Given the description of an element on the screen output the (x, y) to click on. 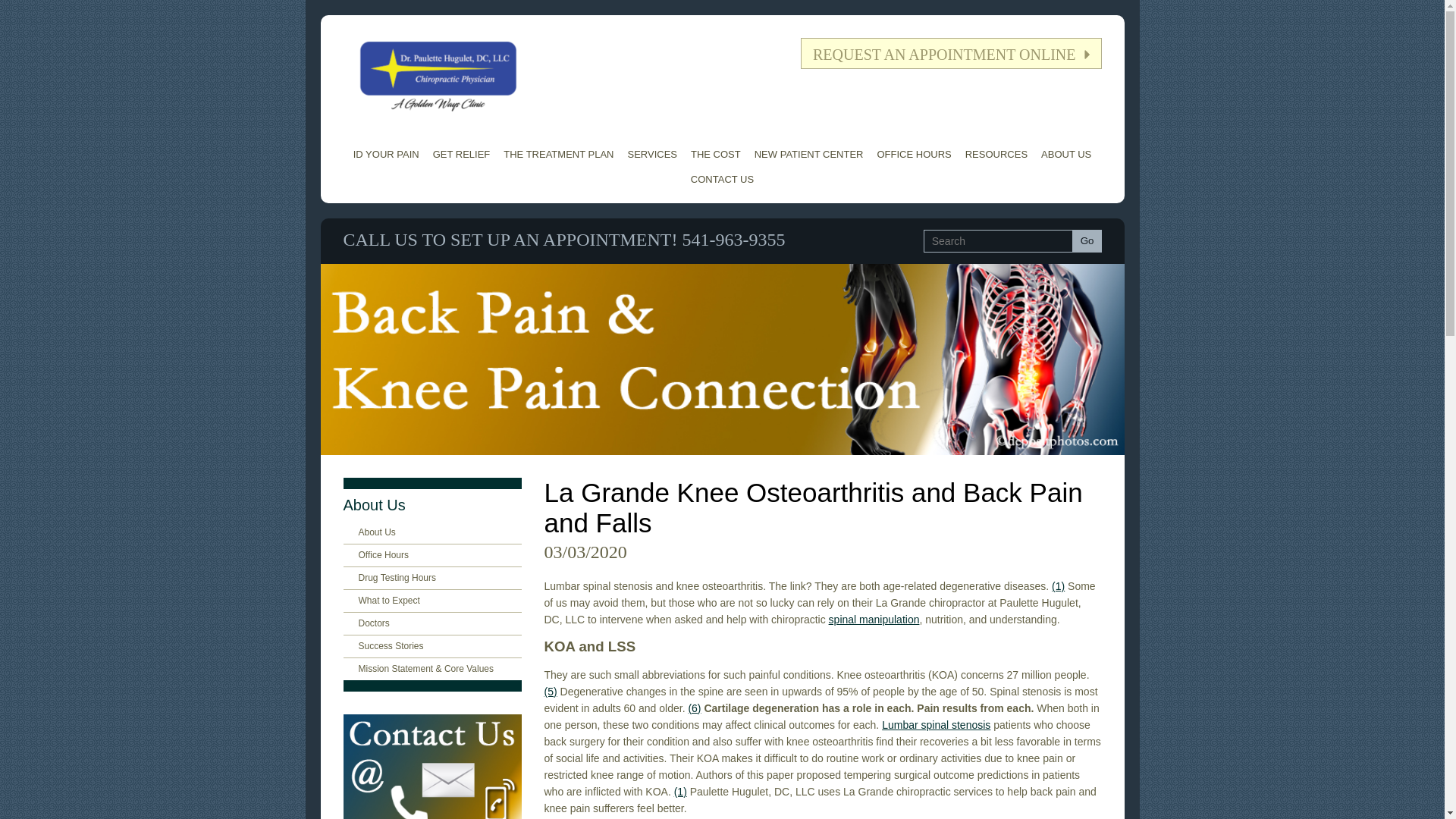
NEW PATIENT CENTER (809, 154)
ID YOUR PAIN (386, 154)
GET RELIEF (461, 154)
Go (1087, 241)
RESOURCES (995, 154)
THE TREATMENT PLAN (558, 154)
OFFICE HOURS (913, 154)
SERVICES (652, 154)
REQUEST AN APPOINTMENT ONLINE (951, 52)
THE COST (716, 154)
